Given the description of an element on the screen output the (x, y) to click on. 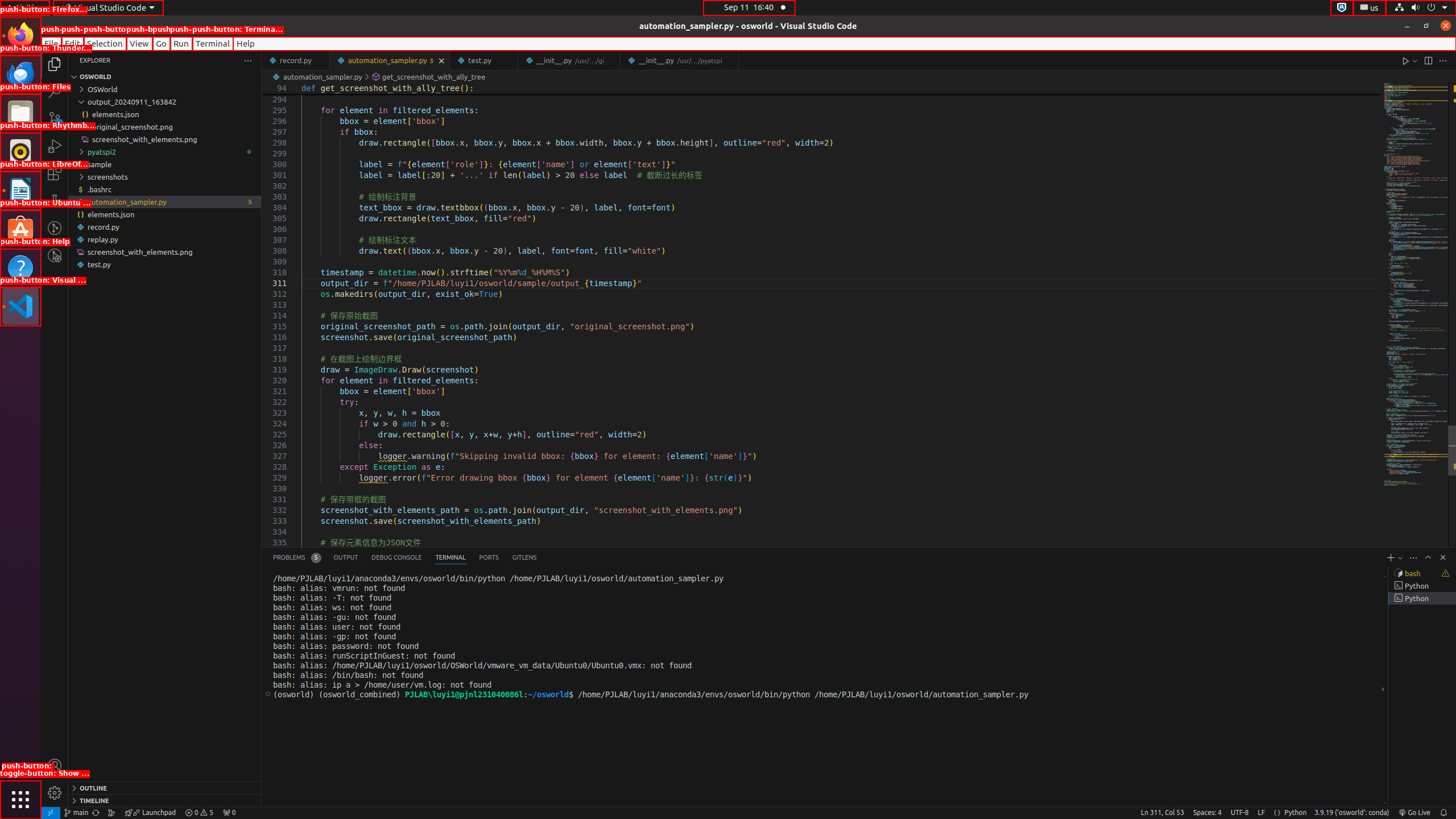
Run Element type: push-button (181, 43)
Edit Element type: push-button (72, 43)
